Given the description of an element on the screen output the (x, y) to click on. 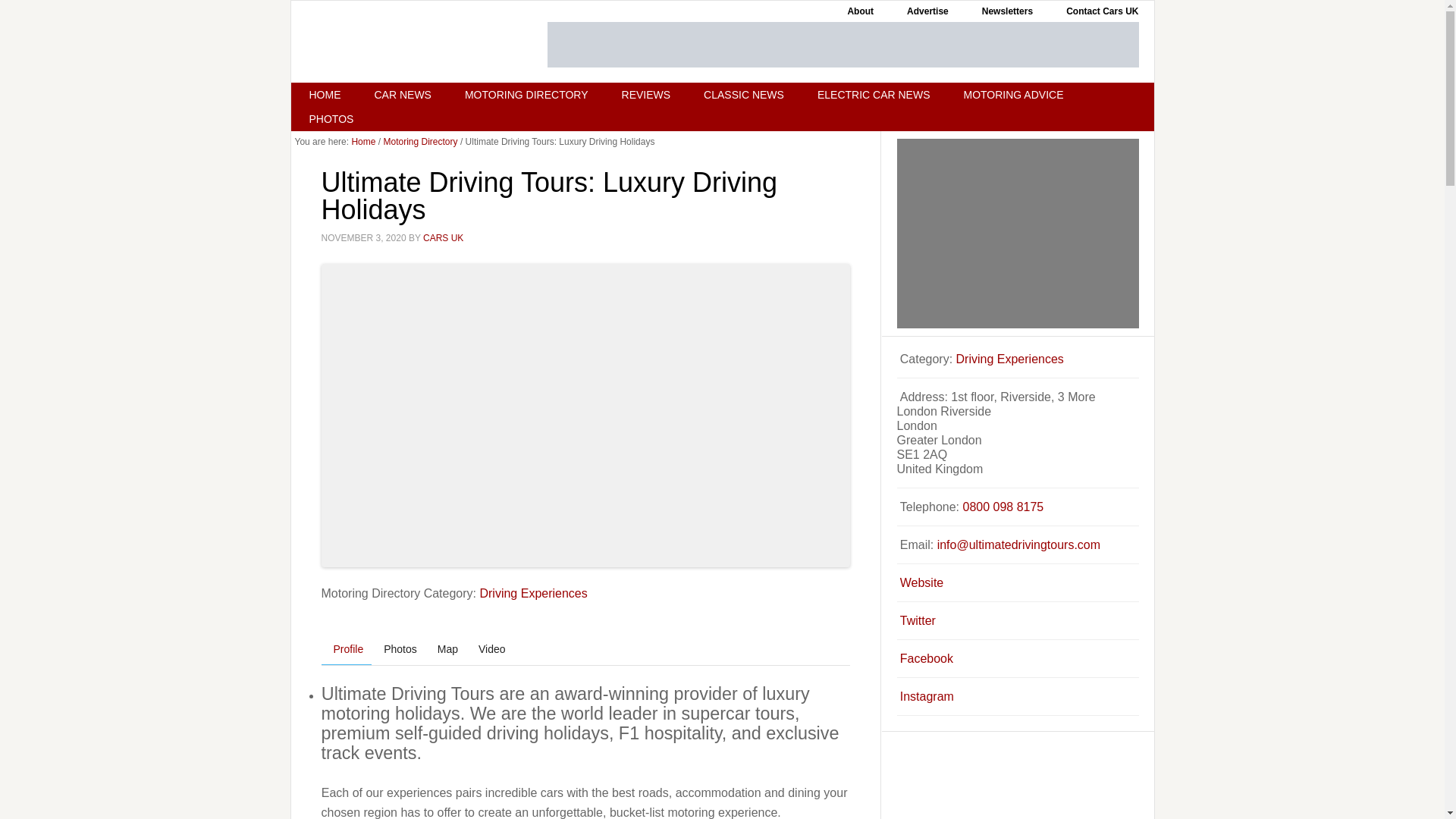
Newsletters (1007, 11)
Contact Cars UK (1102, 11)
Website (921, 582)
ELECTRIC CAR NEWS (874, 94)
REVIEWS (646, 94)
Driving Experiences (532, 593)
MOTORING ADVICE (1012, 94)
Home (362, 141)
Map (445, 649)
Motoring Directory (421, 141)
CARS UK (443, 236)
Advertise (927, 11)
HOME (325, 94)
0800 098 8175 (1002, 506)
CAR NEWS (402, 94)
